Given the description of an element on the screen output the (x, y) to click on. 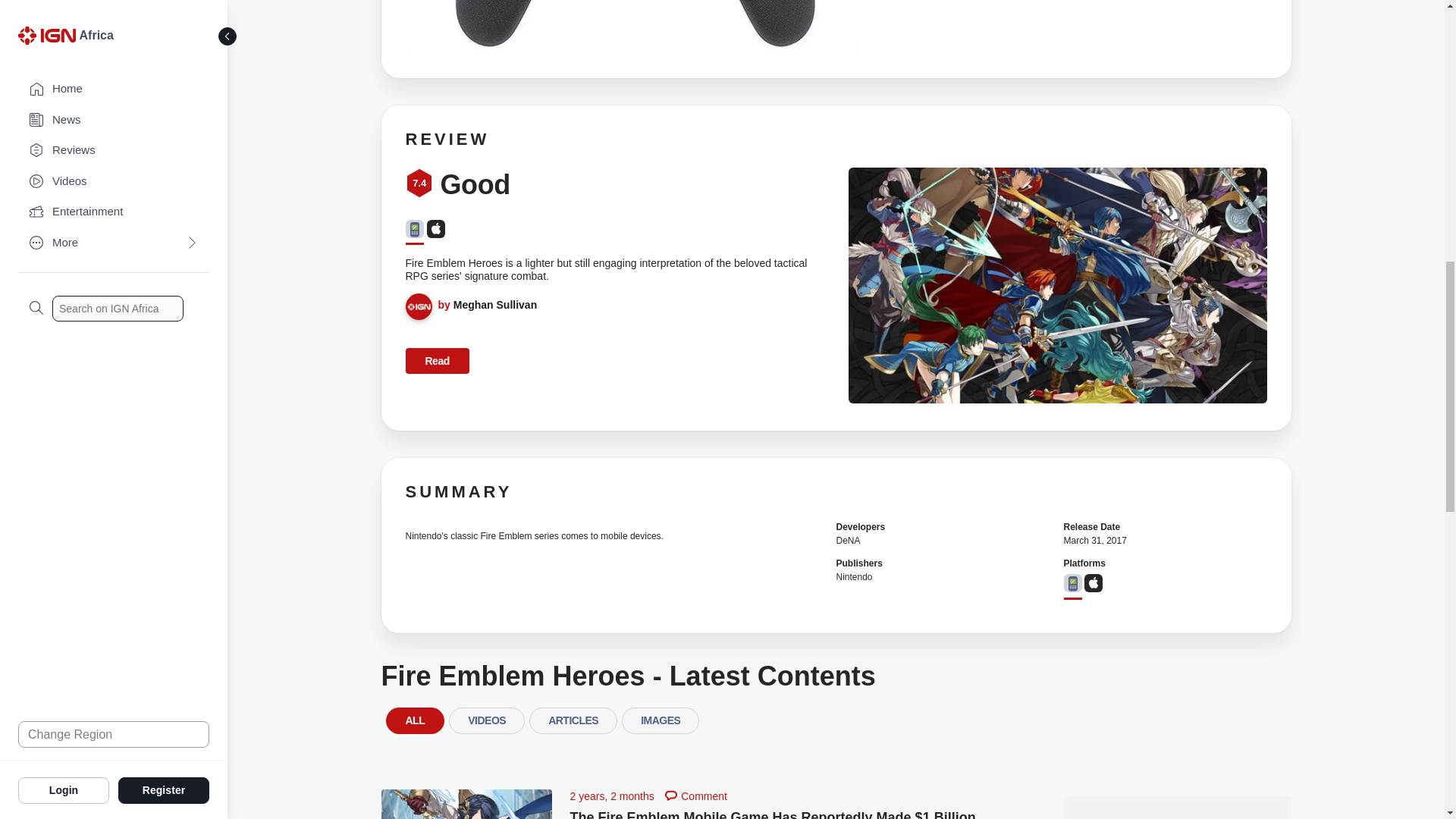
iPhone (435, 229)
DeNA (847, 540)
Android (413, 229)
Android (1071, 583)
ALL (414, 720)
VIDEOS (486, 724)
Read (436, 360)
Meghan Sullivan (494, 304)
Nintendo (853, 576)
VIDEOS (486, 720)
